Given the description of an element on the screen output the (x, y) to click on. 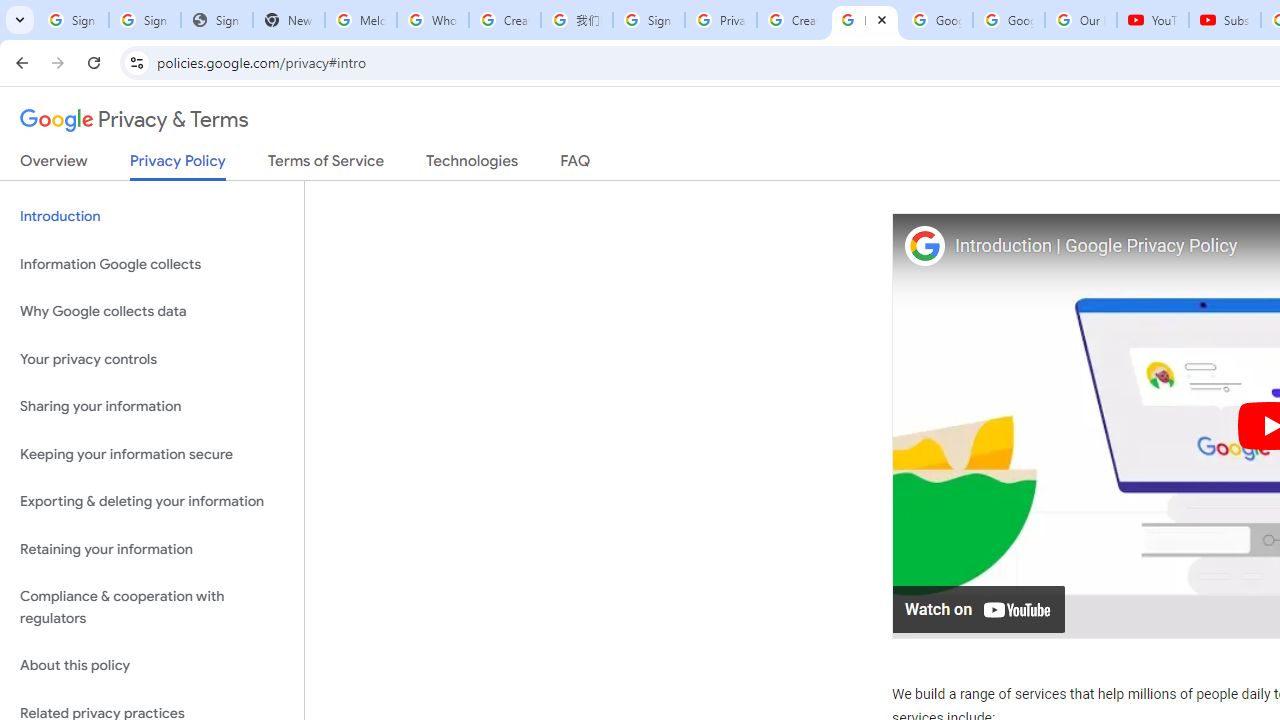
Photo image of Google (924, 244)
Who is my administrator? - Google Account Help (432, 20)
Retaining your information (152, 548)
Google Account (1008, 20)
YouTube (1153, 20)
Information Google collects (152, 263)
Sharing your information (152, 407)
Why Google collects data (152, 312)
Subscriptions - YouTube (1224, 20)
